Given the description of an element on the screen output the (x, y) to click on. 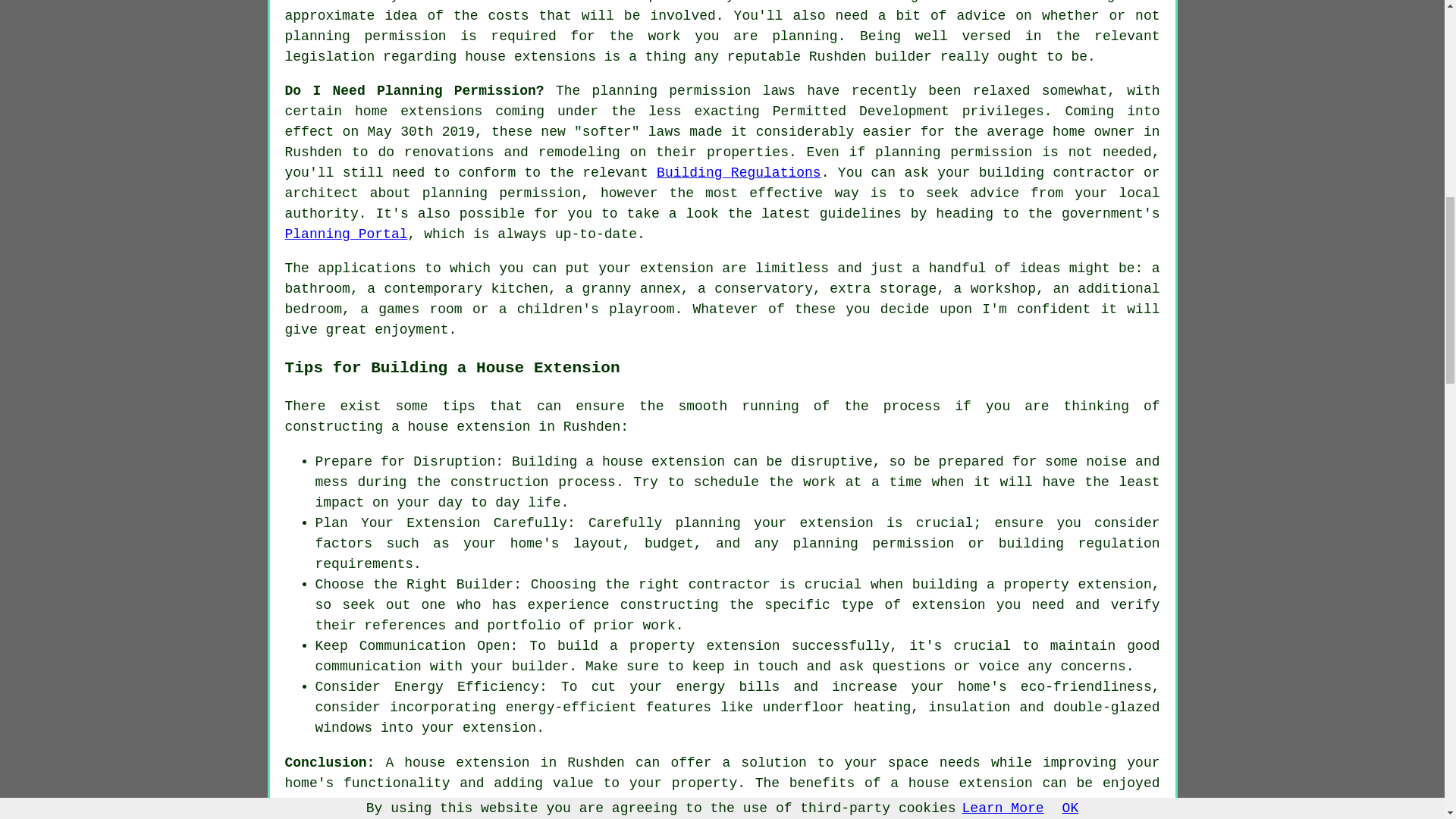
planning permission (365, 36)
a property extension (695, 645)
a house extension (960, 783)
extensions (440, 111)
